Given the description of an element on the screen output the (x, y) to click on. 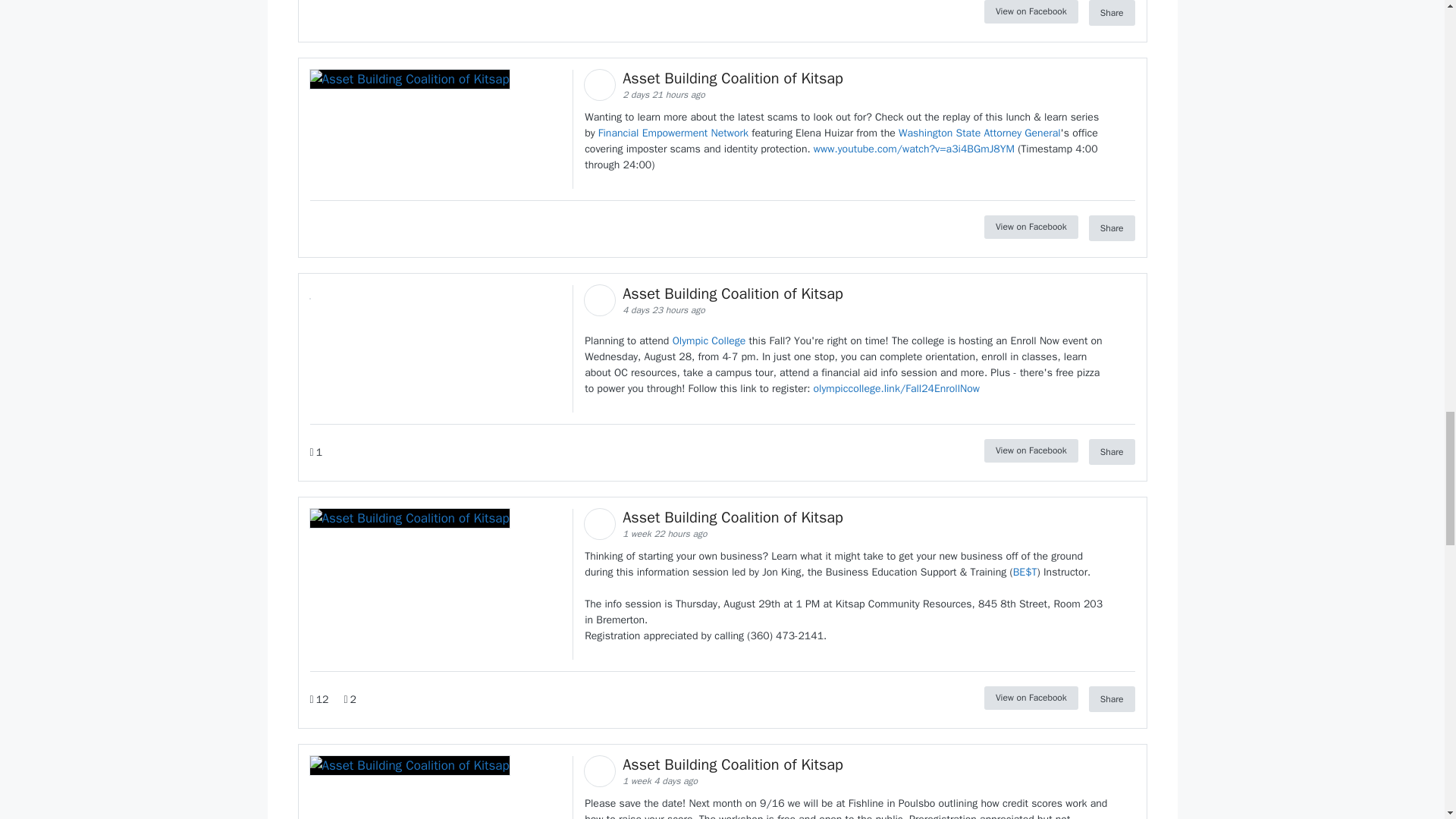
View on Facebook (1031, 227)
View on Facebook (1031, 11)
Washington State Attorney General (979, 132)
Financial Empowerment Network (673, 132)
Share (1112, 227)
Share (1112, 12)
